Given the description of an element on the screen output the (x, y) to click on. 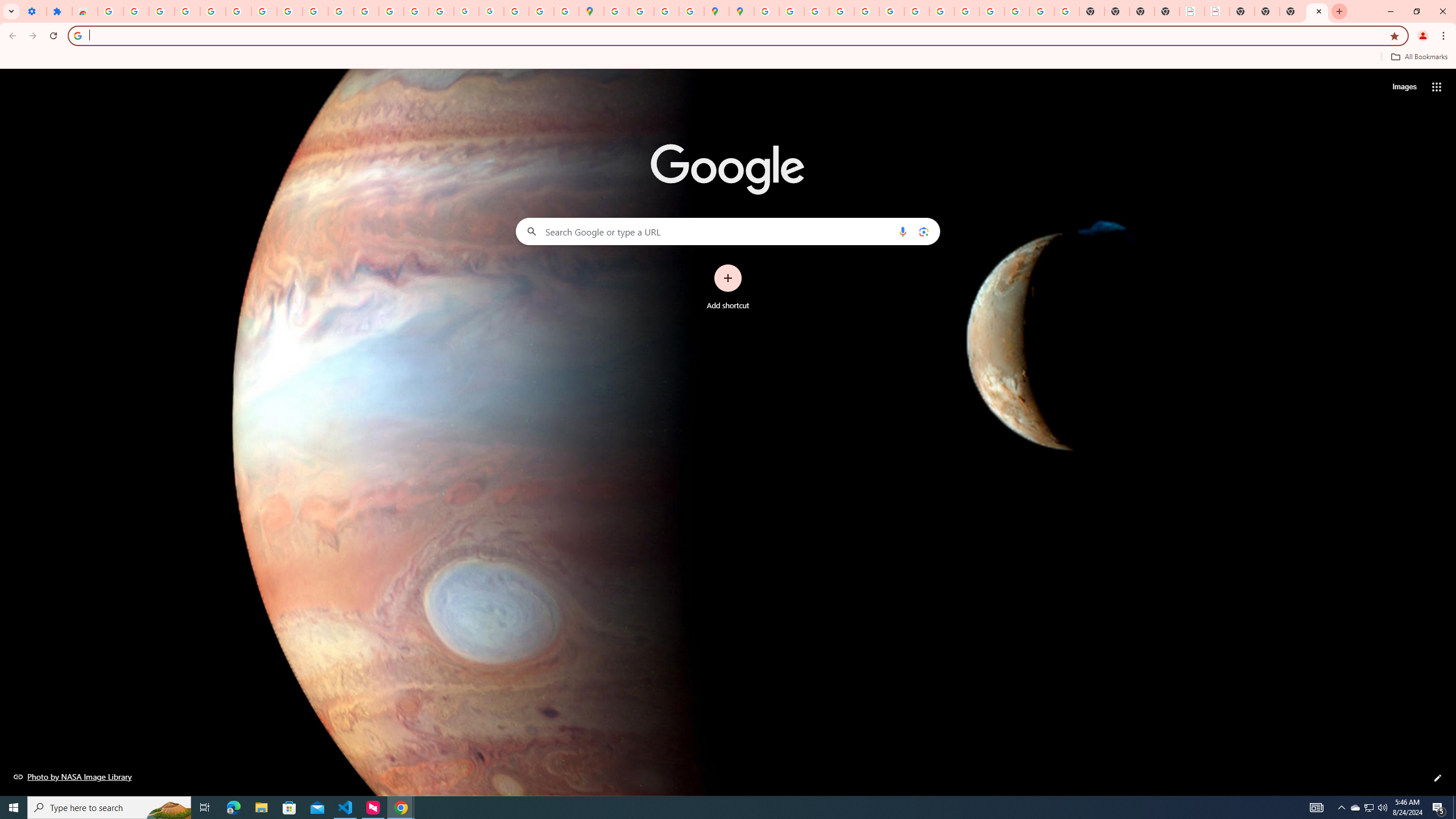
New Tab (1292, 11)
Google Images (1066, 11)
YouTube (315, 11)
